Given the description of an element on the screen output the (x, y) to click on. 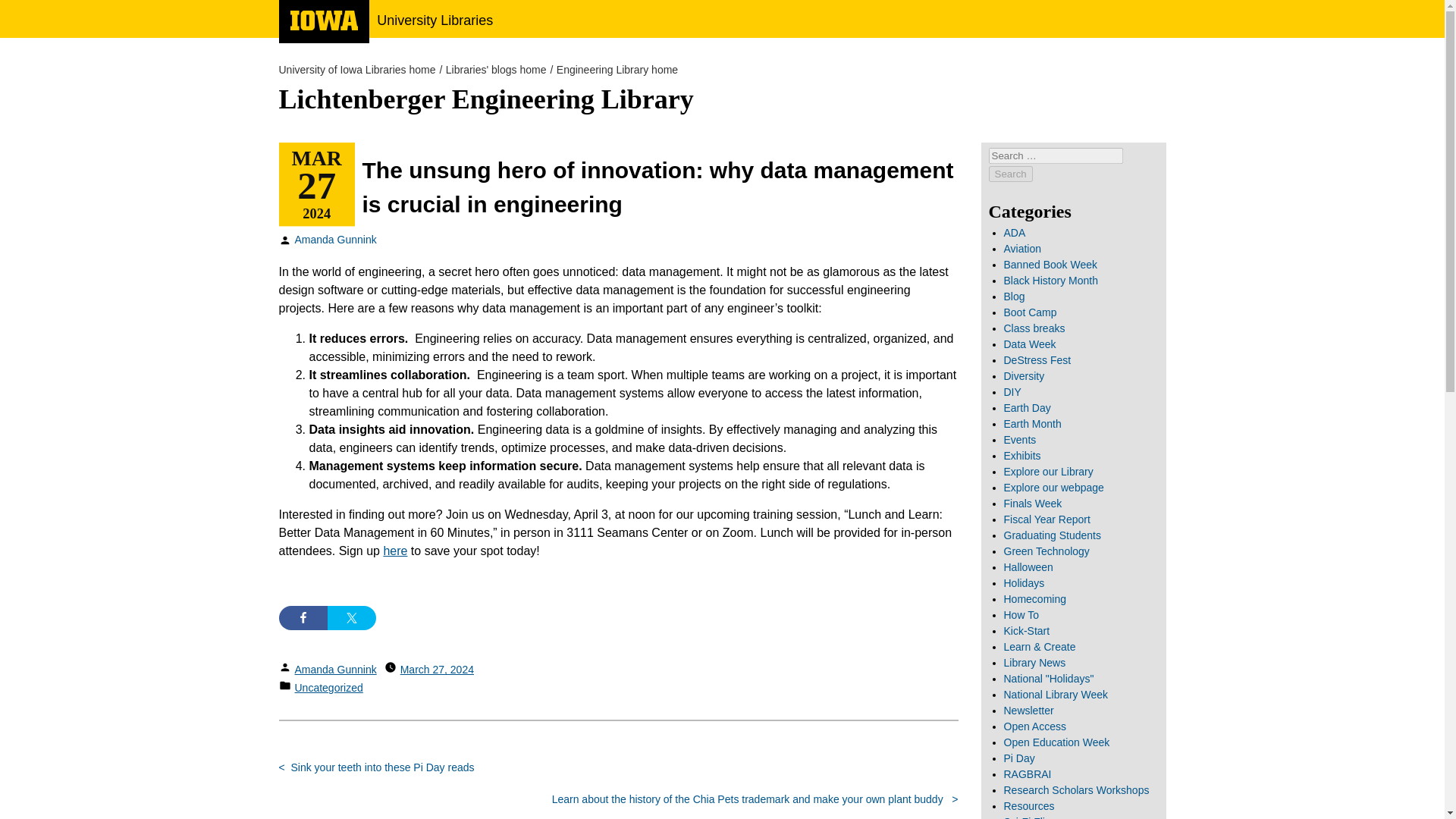
Search (1010, 173)
Search (1010, 173)
Aviation (1023, 248)
Boot Camp (1030, 312)
Search (1010, 173)
Black History Month (1050, 280)
Exhibits (1022, 455)
Finals Week (1033, 503)
University of Iowa Libraries (357, 69)
Events (1020, 439)
